Given the description of an element on the screen output the (x, y) to click on. 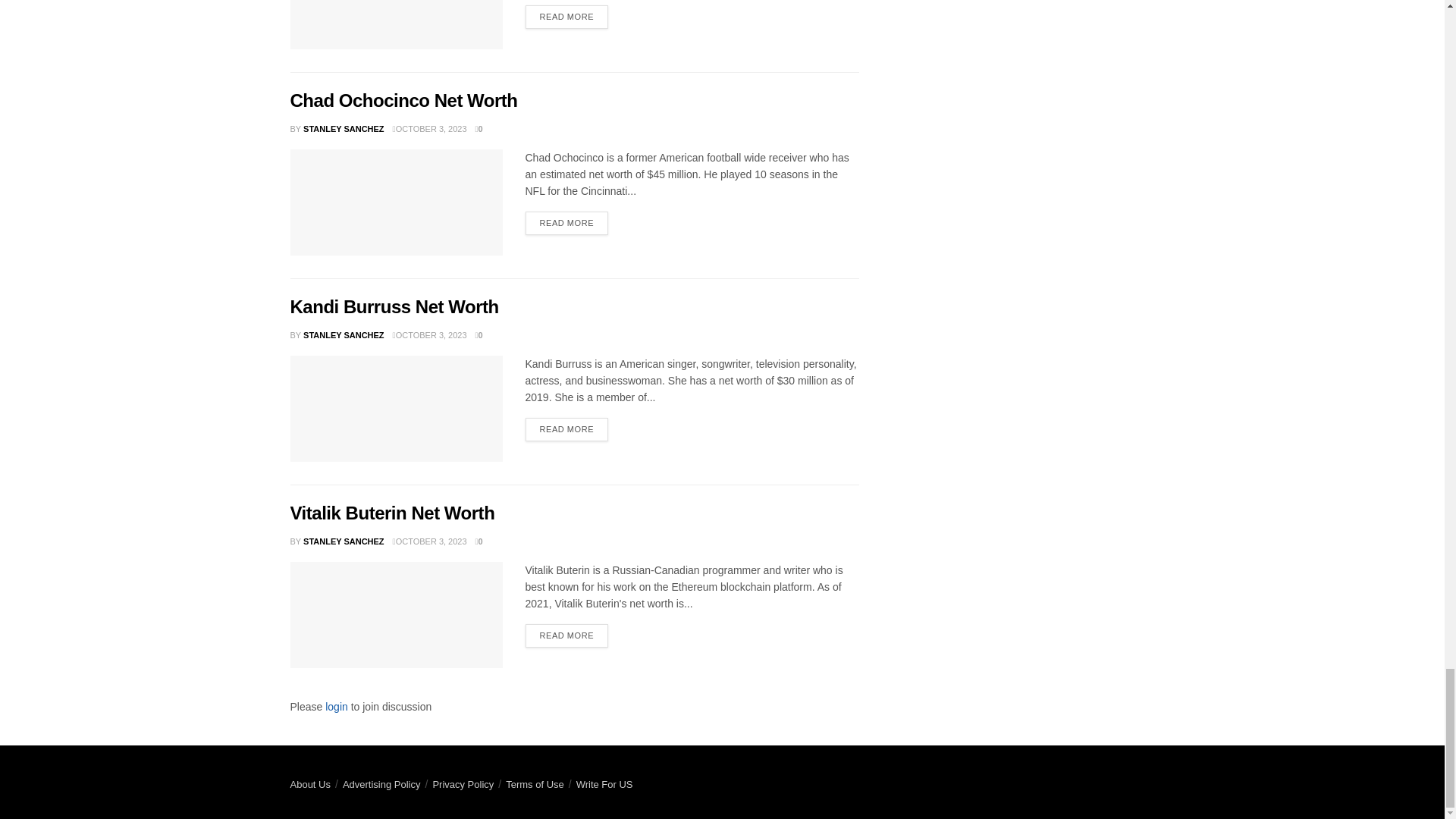
Chad Ochocinco Net Worth (395, 202)
Carrot Top Net Worth (395, 24)
Vitalik Buterin Net Worth (395, 614)
Kandi Burruss Net Worth (395, 408)
